Given the description of an element on the screen output the (x, y) to click on. 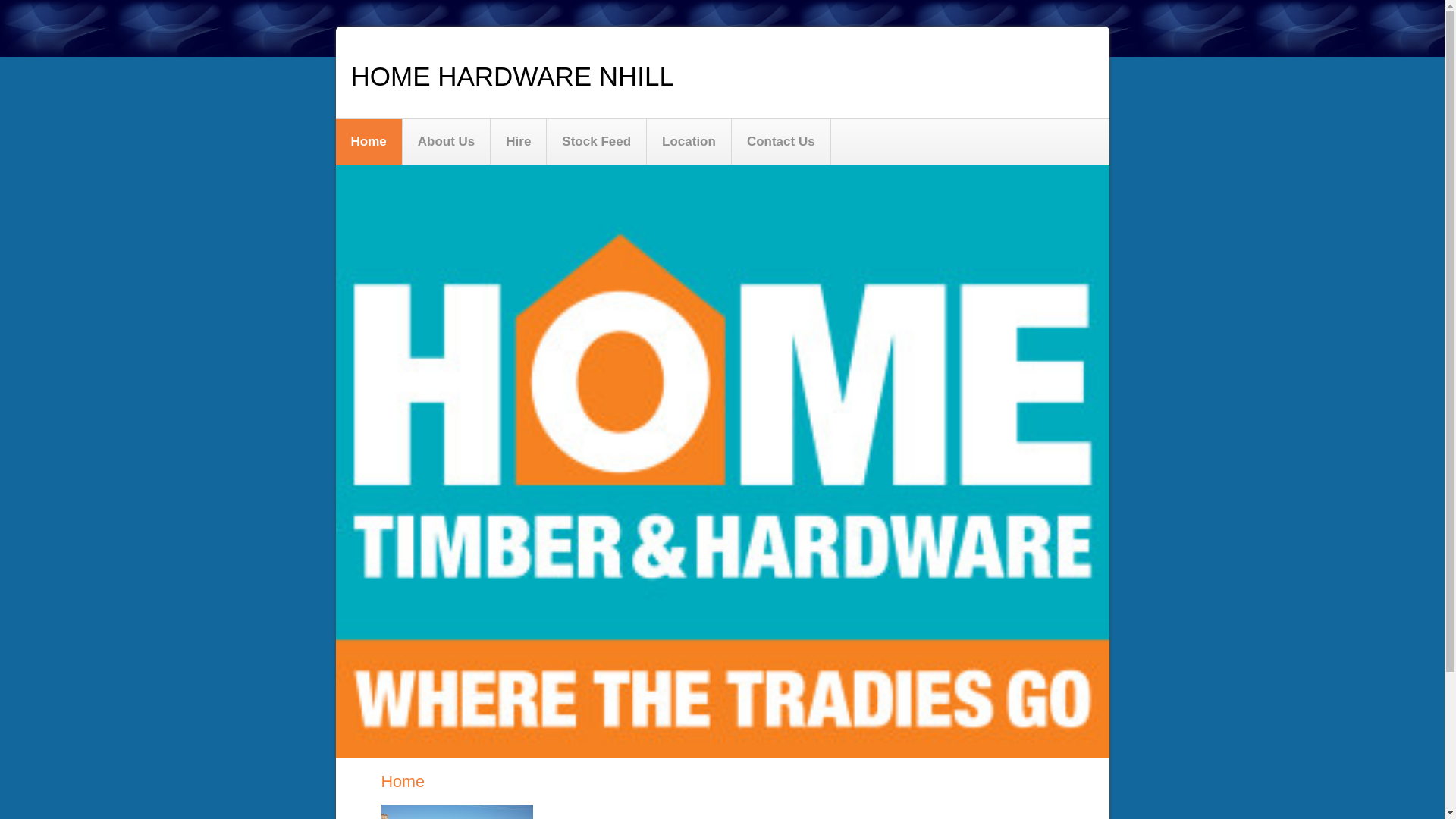
About Us Element type: text (446, 141)
Location Element type: text (688, 141)
Contact Us Element type: text (781, 141)
Stock Feed Element type: text (596, 141)
HOME HARDWARE NHILL Element type: text (512, 76)
Hire Element type: text (518, 141)
Home Element type: text (368, 141)
